Given the description of an element on the screen output the (x, y) to click on. 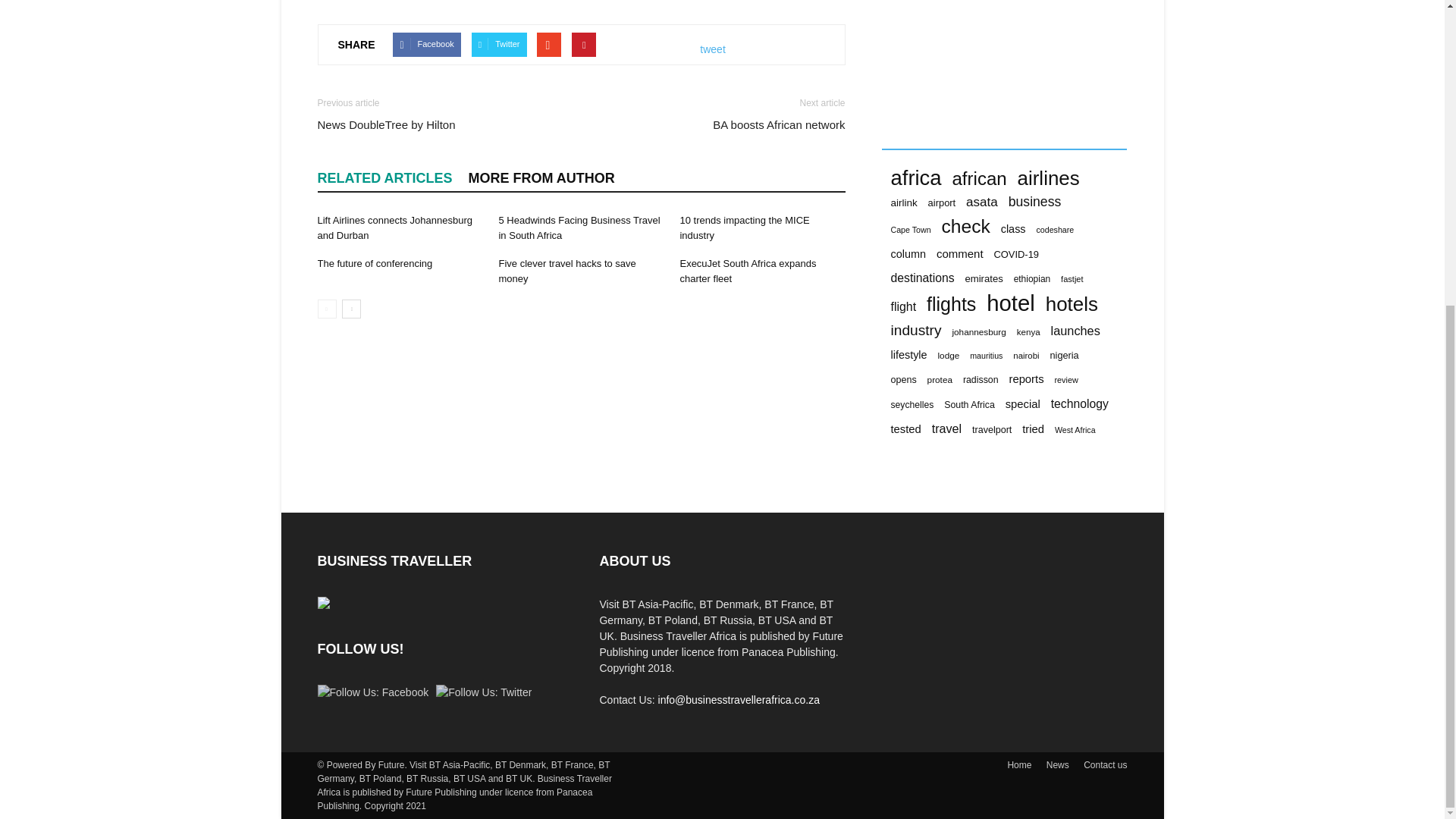
Five clever travel hacks to save money (565, 270)
10 trends impacting the MICE industry (744, 227)
The future of conferencing (374, 263)
Lift Airlines connects Johannesburg and Durban (394, 227)
ExecuJet South Africa expands charter fleet (747, 270)
Follow Us: Facebook (372, 692)
5 Headwinds Facing Business Travel in South Africa (578, 227)
